Given the description of an element on the screen output the (x, y) to click on. 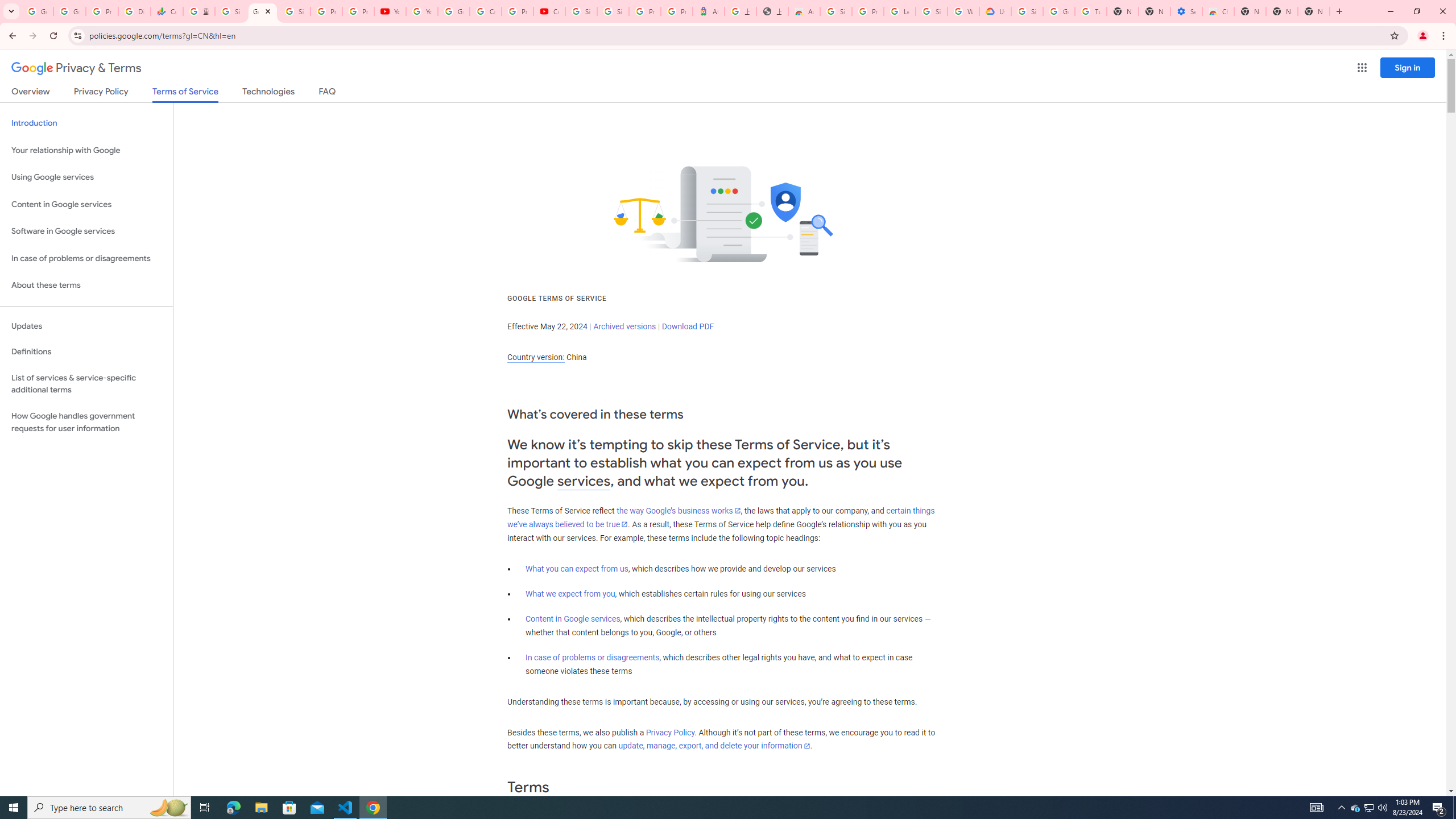
In case of problems or disagreements (592, 657)
Chrome Web Store - Accessibility extensions (1217, 11)
Your relationship with Google (86, 150)
Settings - Accessibility (1185, 11)
Google Account Help (453, 11)
New Tab (1313, 11)
List of services & service-specific additional terms (86, 383)
